Given the description of an element on the screen output the (x, y) to click on. 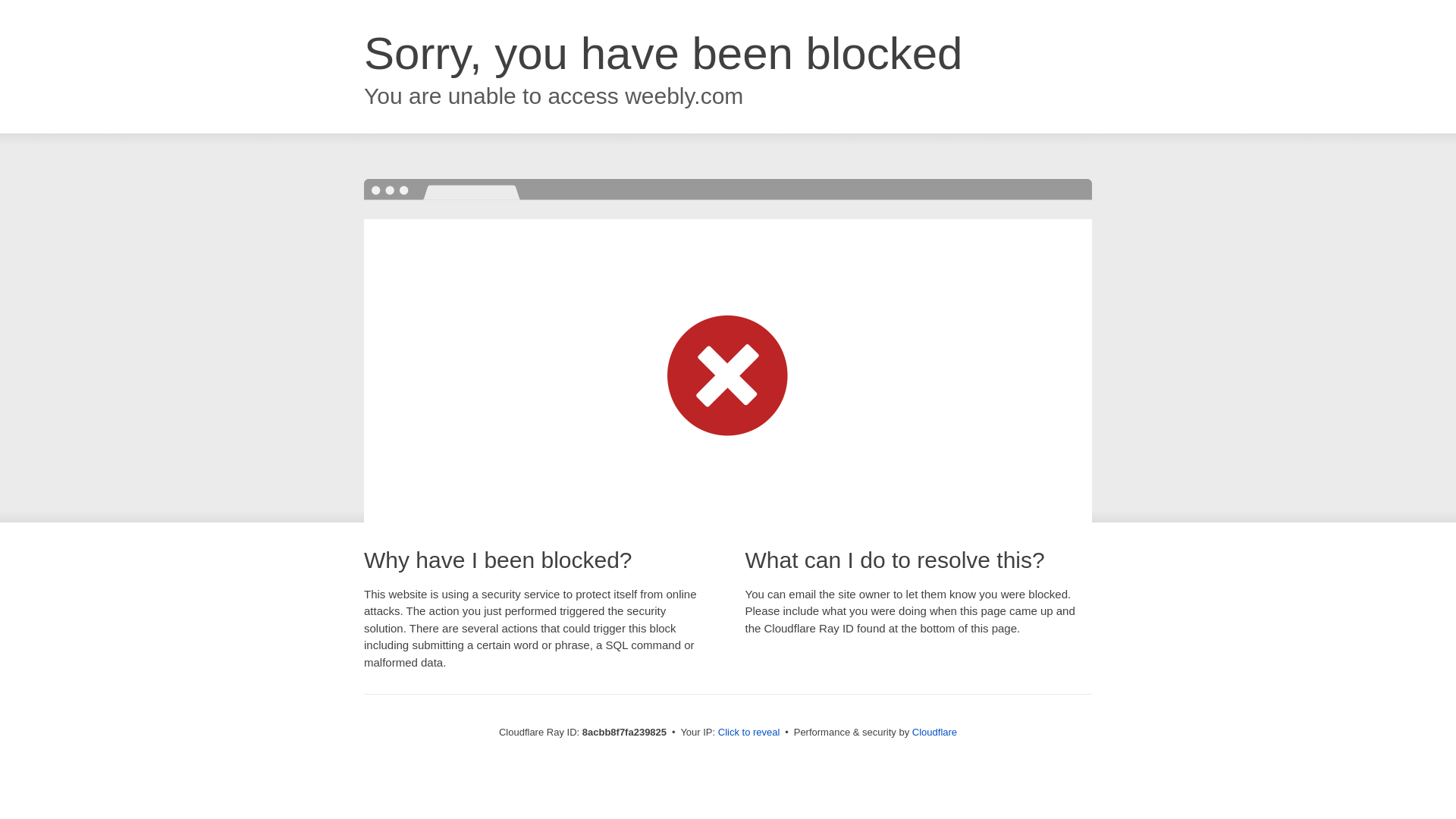
Cloudflare (934, 731)
Click to reveal (748, 732)
